Given the description of an element on the screen output the (x, y) to click on. 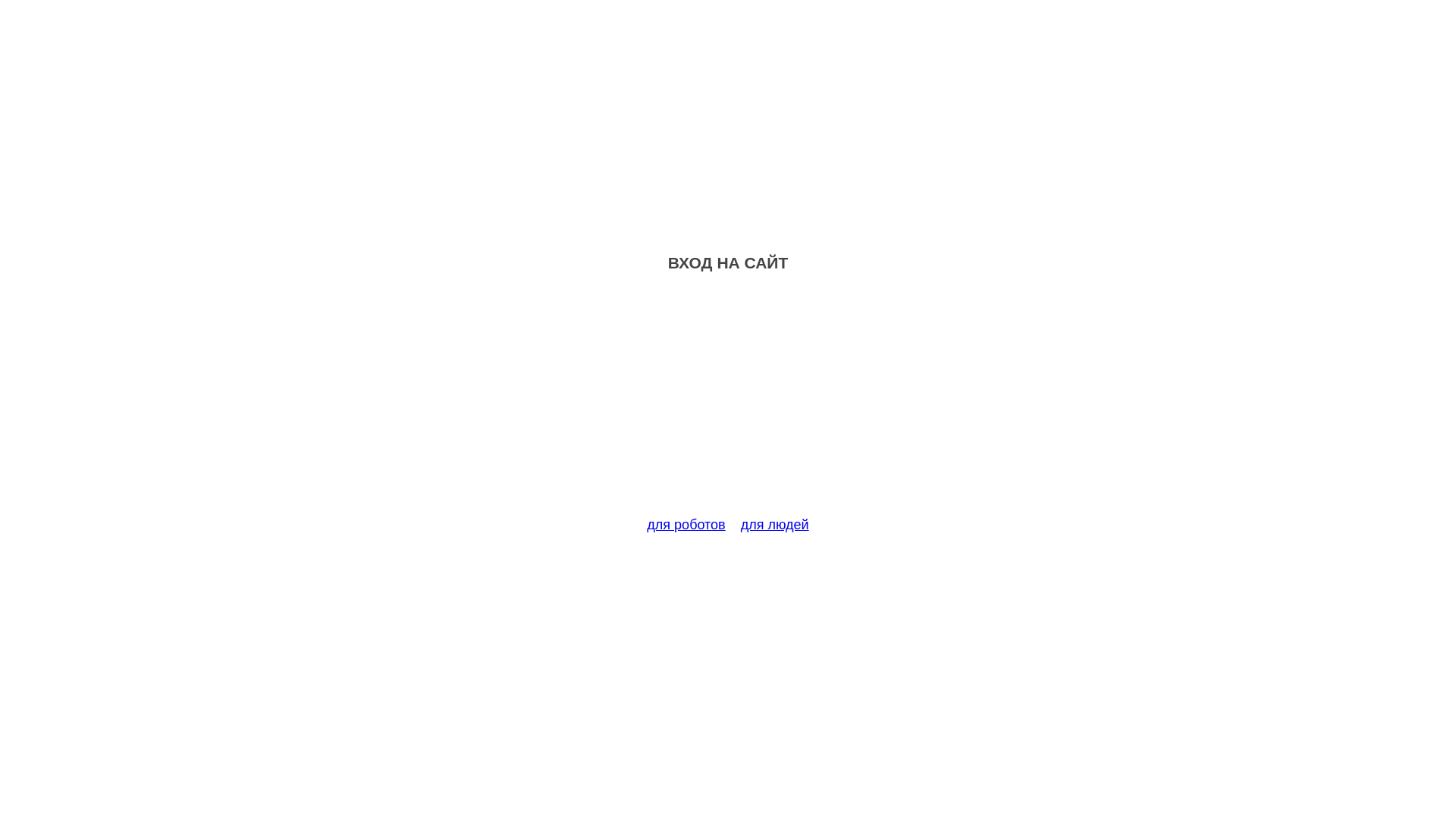
Advertisement Element type: hover (727, 403)
